Given the description of an element on the screen output the (x, y) to click on. 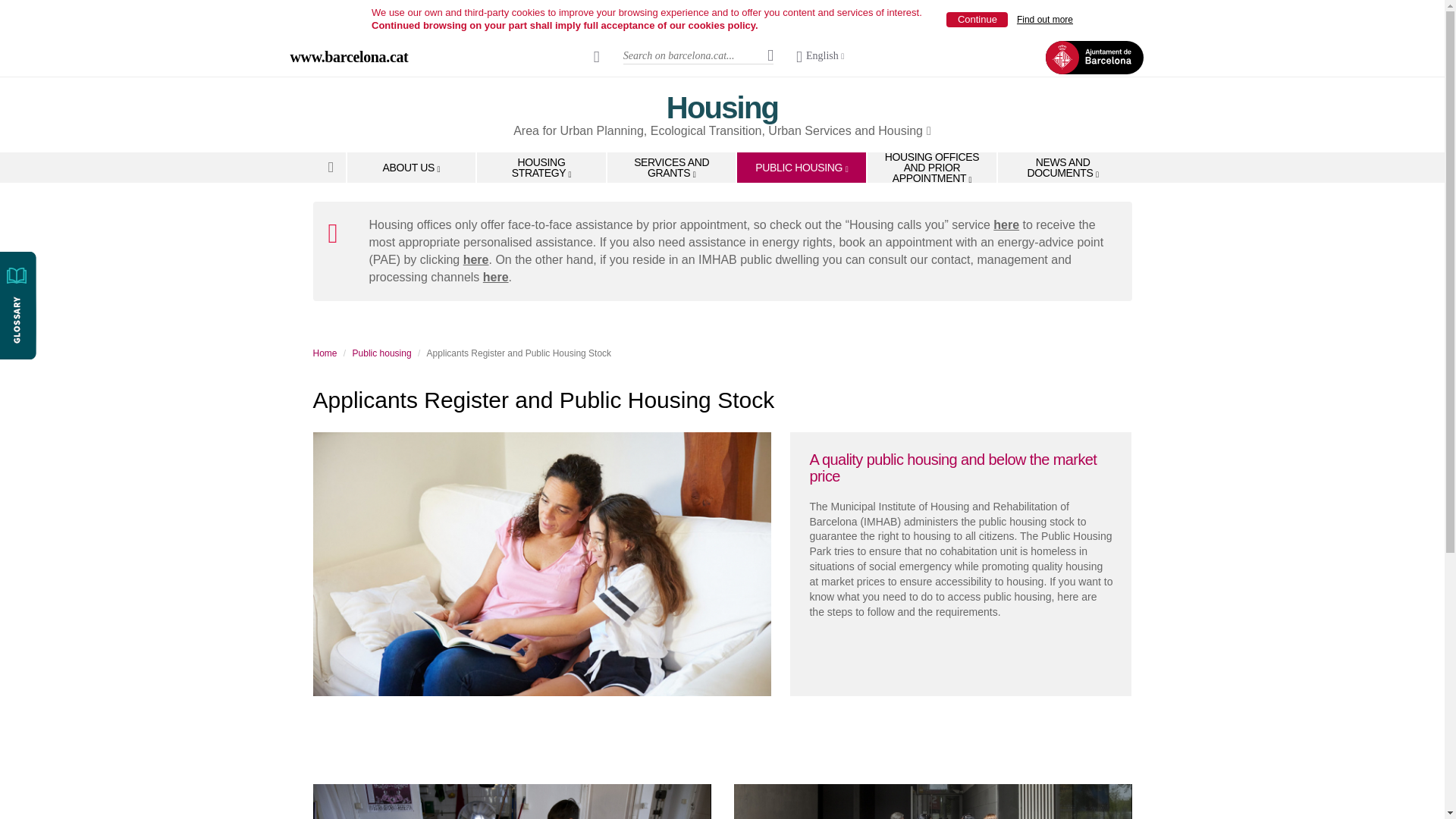
Housing (721, 107)
barcelona.cat shortcuts (596, 55)
Home (721, 107)
Barcelona (348, 56)
Change language (820, 57)
Find out more (1044, 19)
www.barcelona.cat (348, 56)
Open in new window (722, 130)
Continue (976, 19)
Home (332, 166)
English (820, 57)
